Given the description of an element on the screen output the (x, y) to click on. 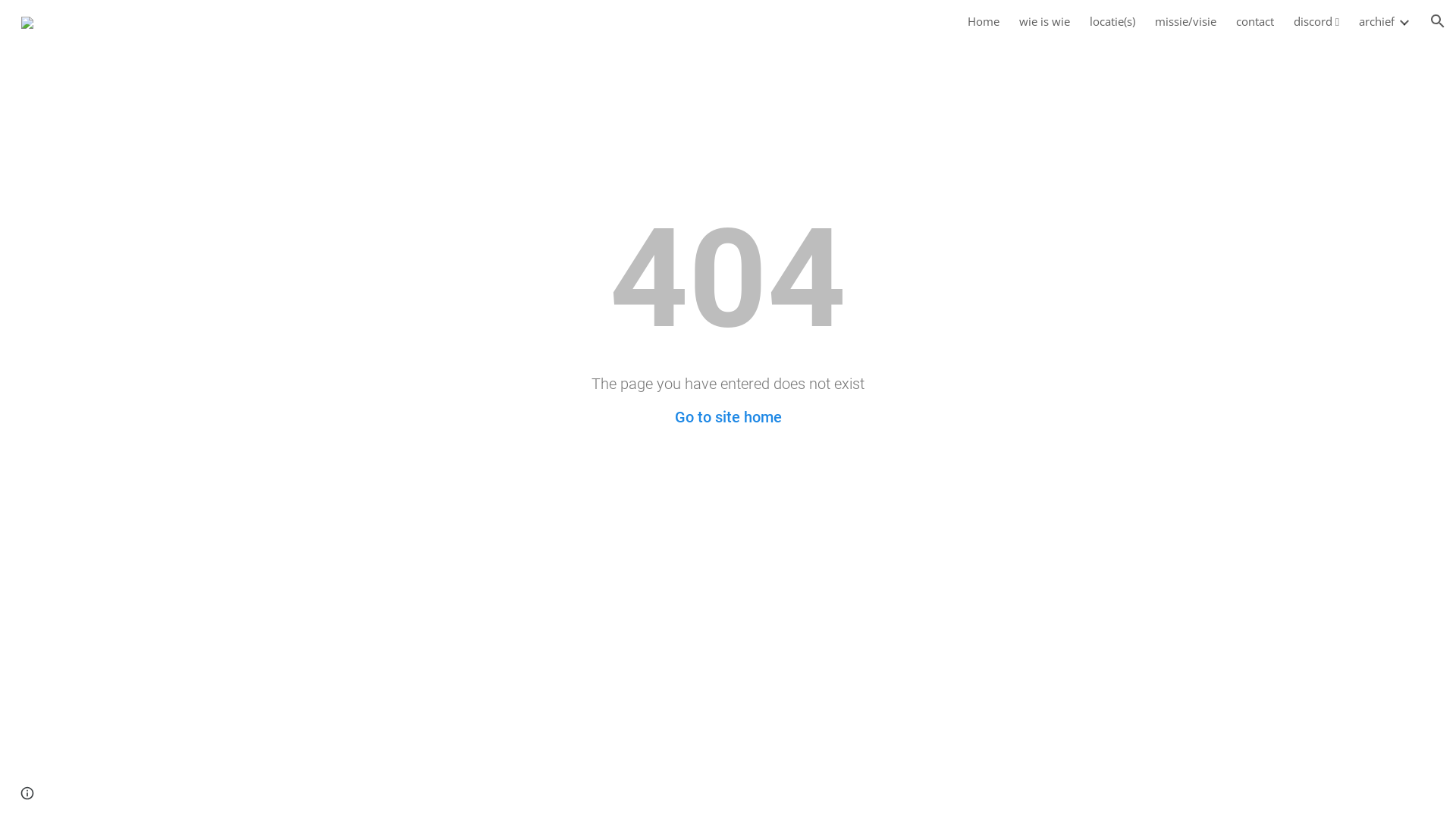
locatie(s) Element type: text (1112, 20)
Go to site home Element type: text (727, 416)
contact Element type: text (1255, 20)
missie/visie Element type: text (1185, 20)
wie is wie Element type: text (1044, 20)
archief Element type: text (1376, 20)
Home Element type: text (983, 20)
Expand/Collapse Element type: hover (1403, 20)
